Given the description of an element on the screen output the (x, y) to click on. 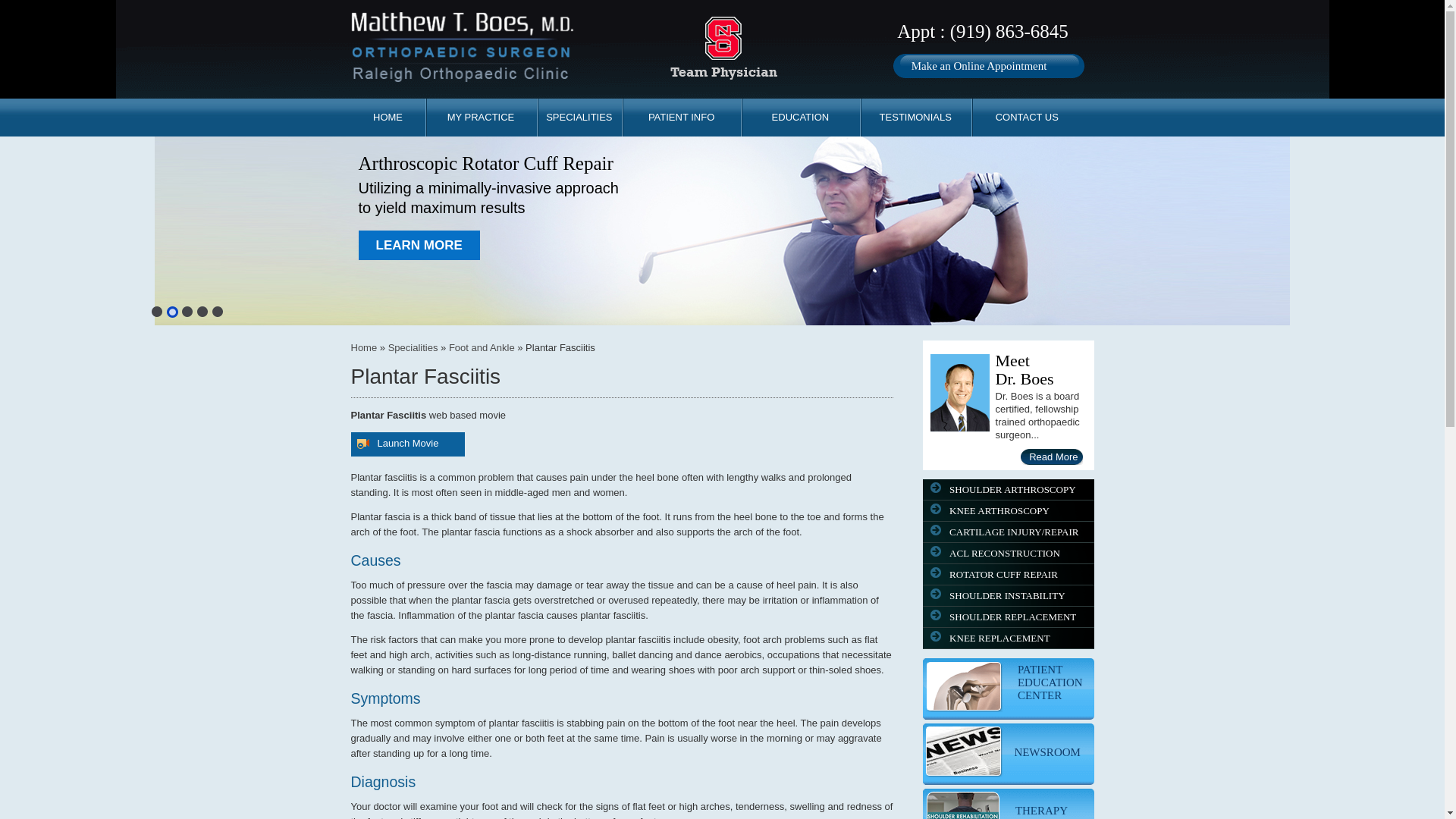
Go to Home. (363, 347)
Go to Specialities. (413, 347)
Go to Foot and Ankle. (481, 347)
